Given the description of an element on the screen output the (x, y) to click on. 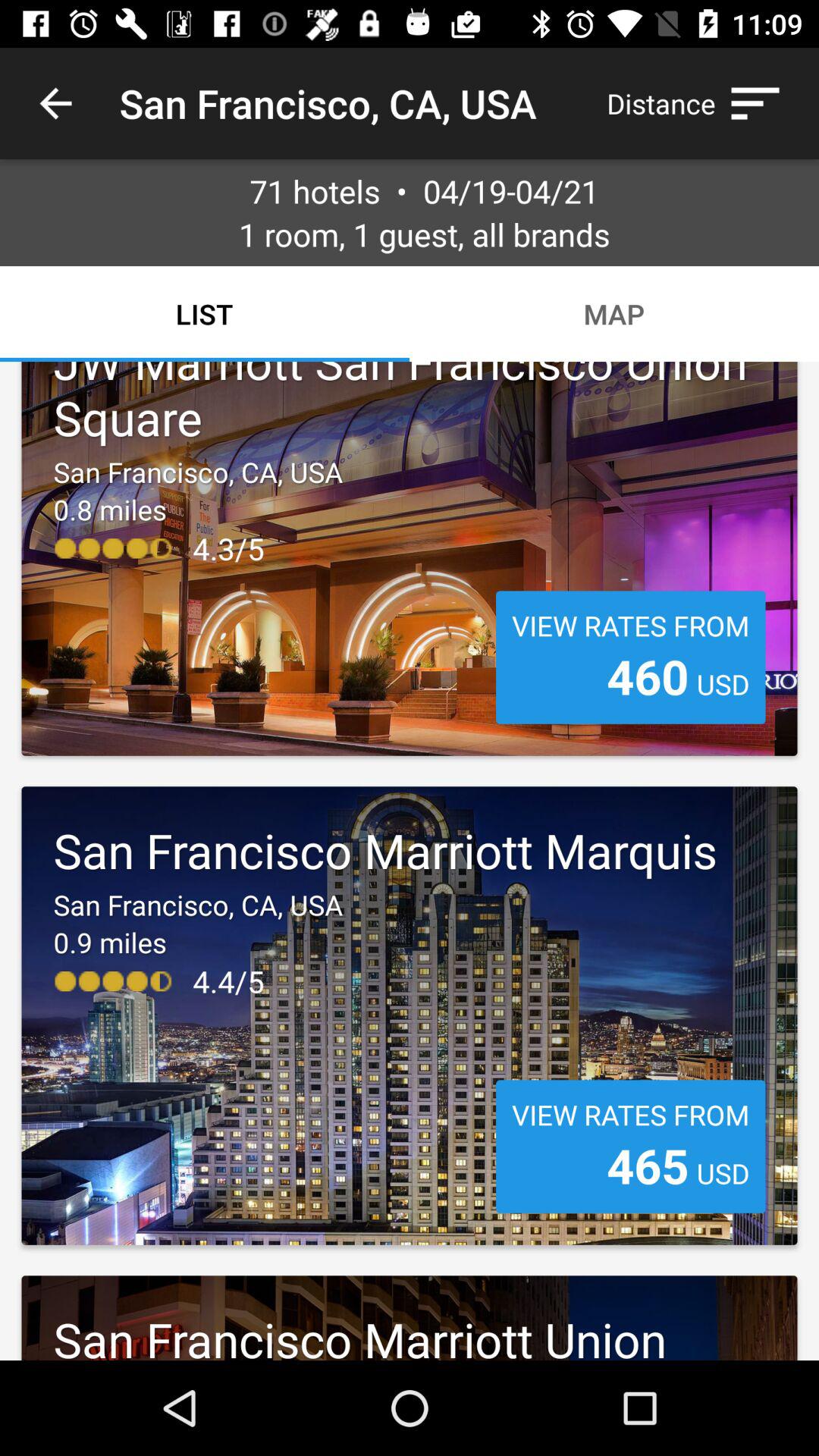
click 460 item (647, 676)
